Given the description of an element on the screen output the (x, y) to click on. 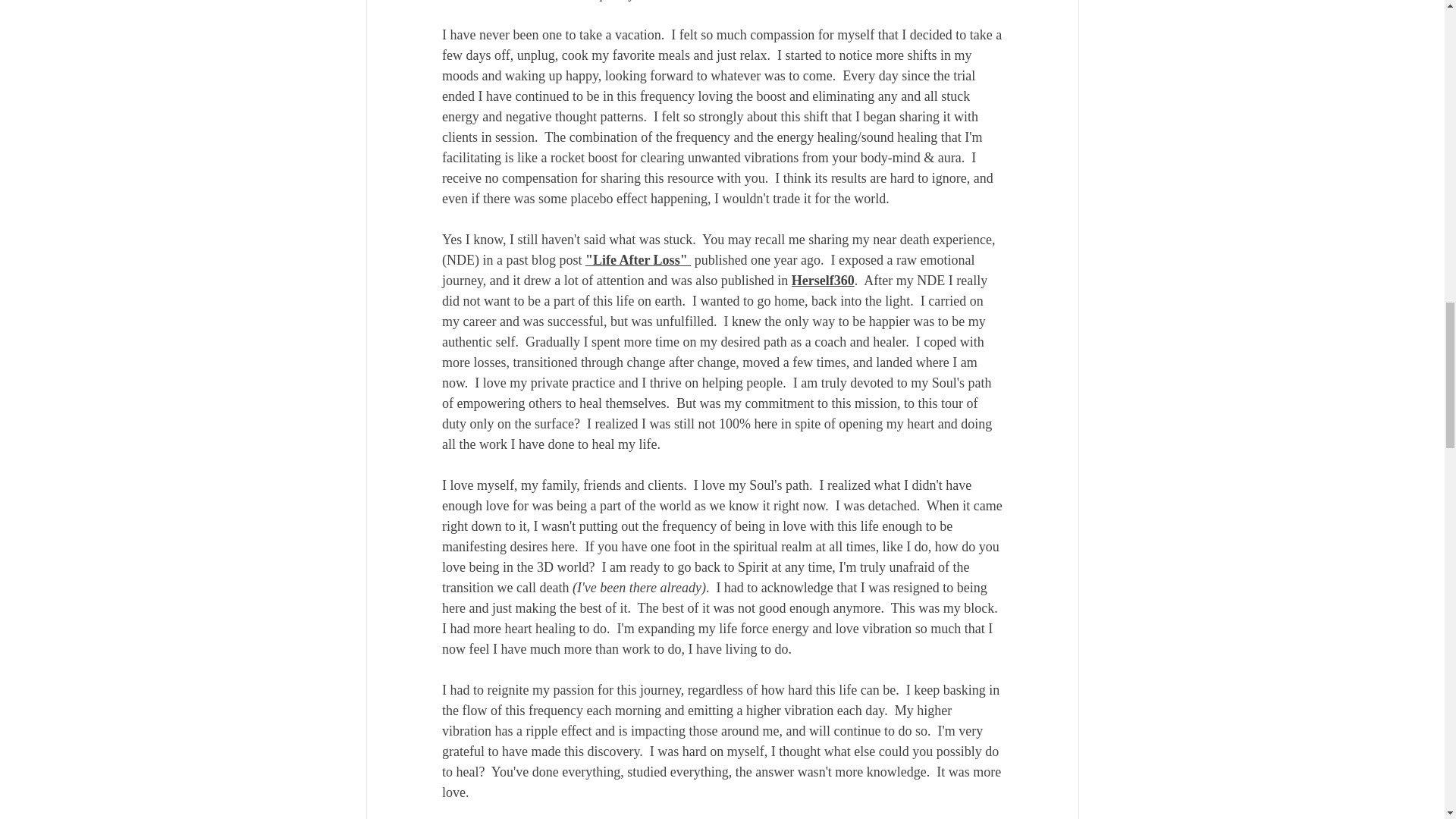
Herself360 (821, 280)
"Life After Loss"  (637, 259)
